Given the description of an element on the screen output the (x, y) to click on. 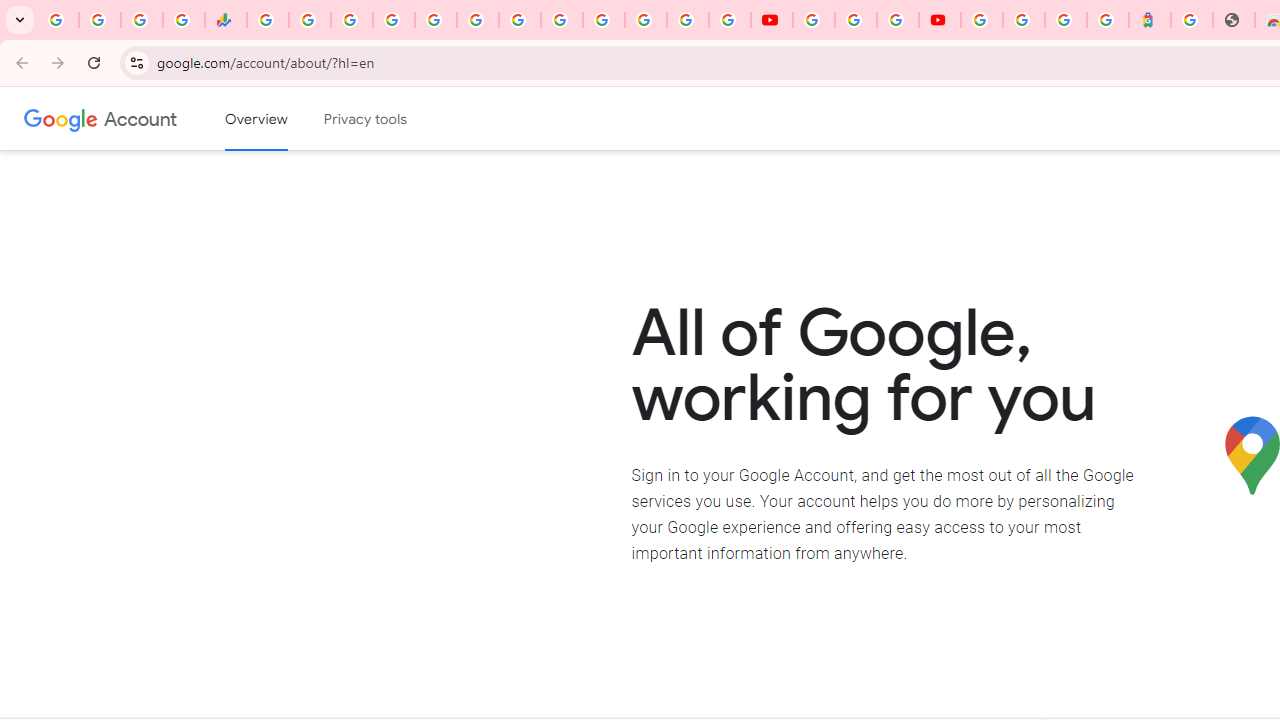
Android TV Policies and Guidelines - Transparency Center (520, 20)
Privacy Checkup (730, 20)
Sign in - Google Accounts (1023, 20)
